Given the description of an element on the screen output the (x, y) to click on. 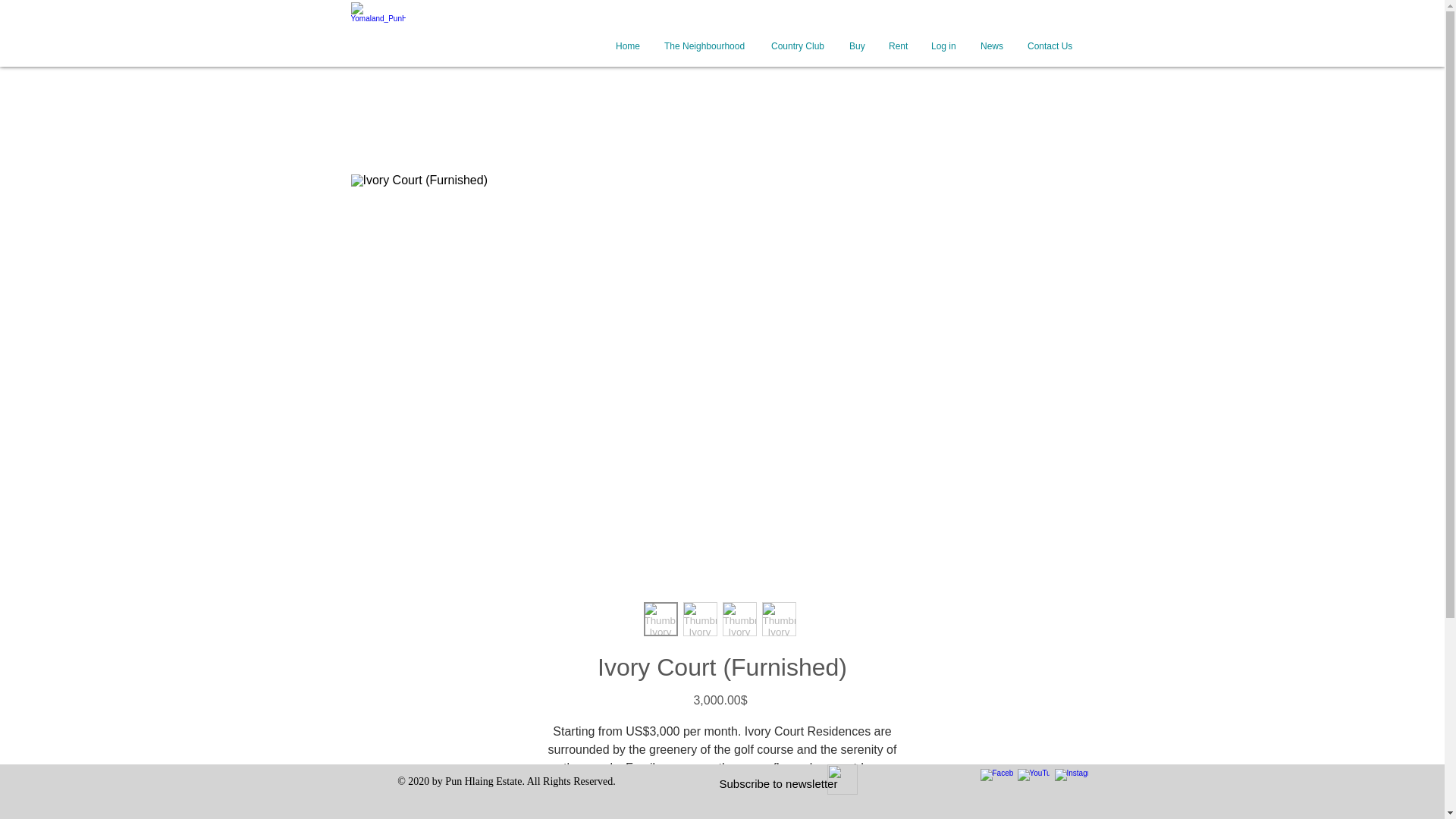
News (991, 46)
Home (628, 46)
Contact Us (1049, 46)
The Neighbourhood (705, 46)
Buy (856, 46)
Rent (897, 46)
Log in (943, 46)
Country Club (797, 46)
